Given the description of an element on the screen output the (x, y) to click on. 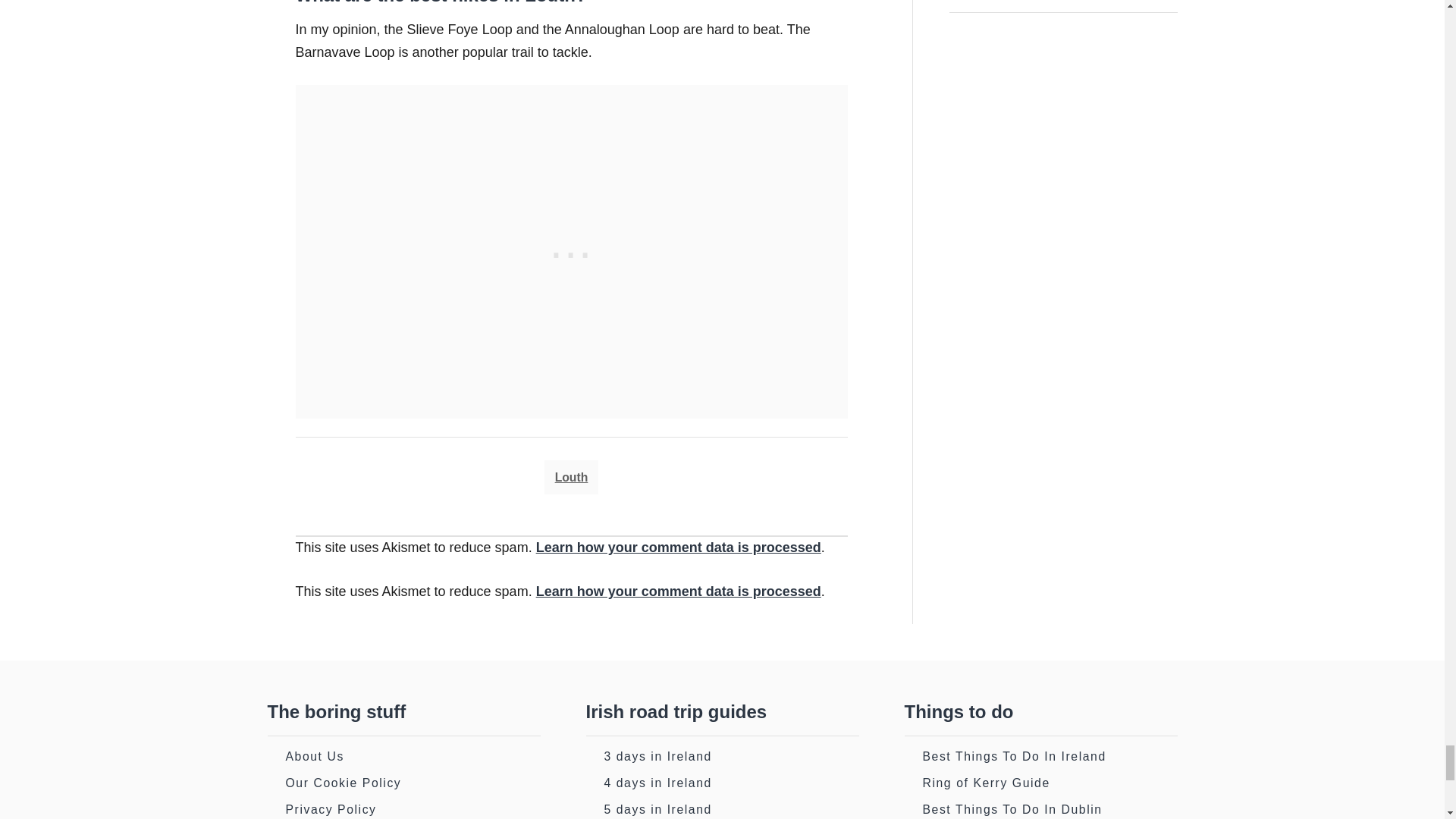
Learn how your comment data is processed (678, 590)
Louth (571, 477)
Learn how your comment data is processed (678, 547)
